Given the description of an element on the screen output the (x, y) to click on. 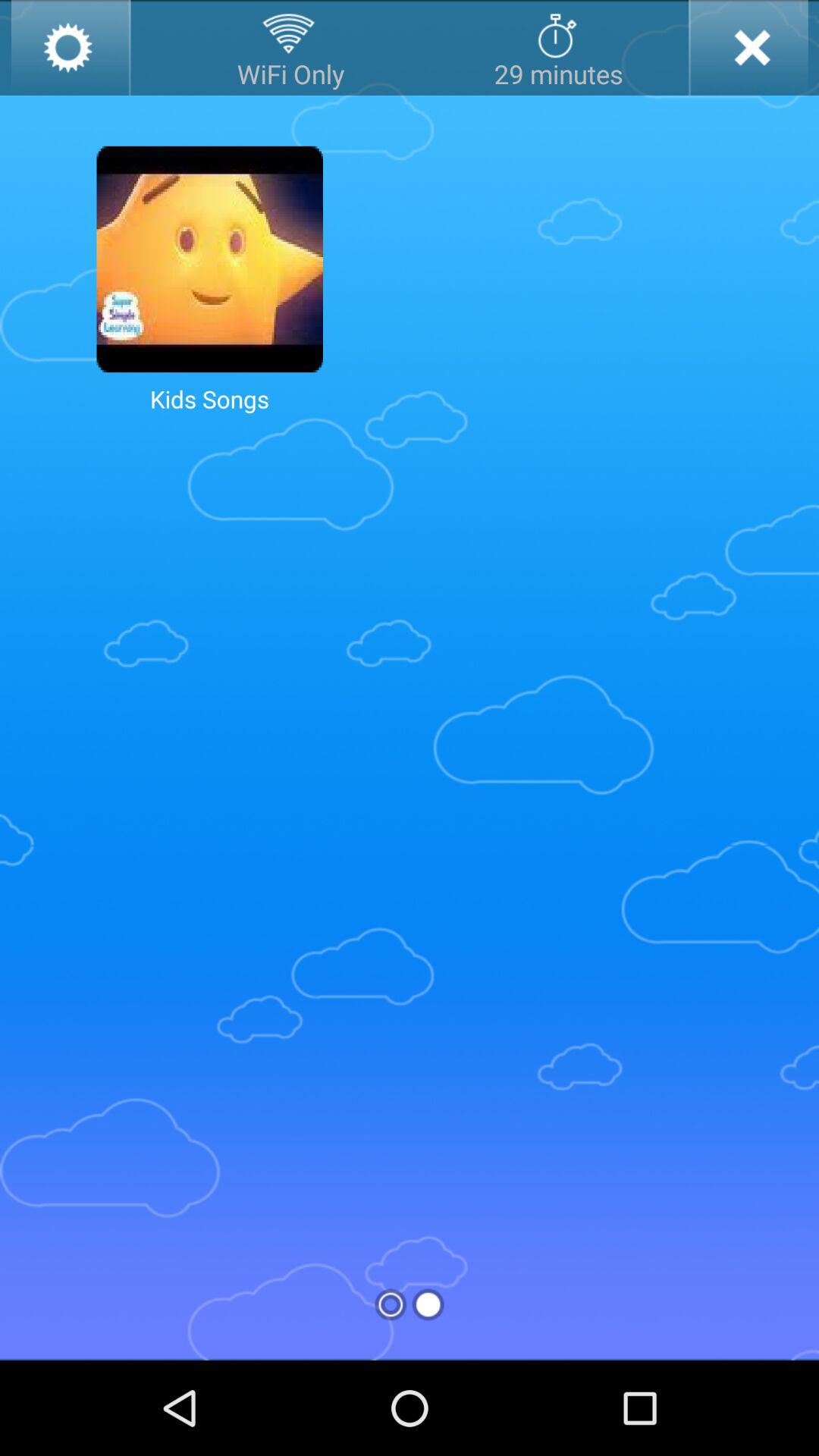
wifi button (290, 47)
